Given the description of an element on the screen output the (x, y) to click on. 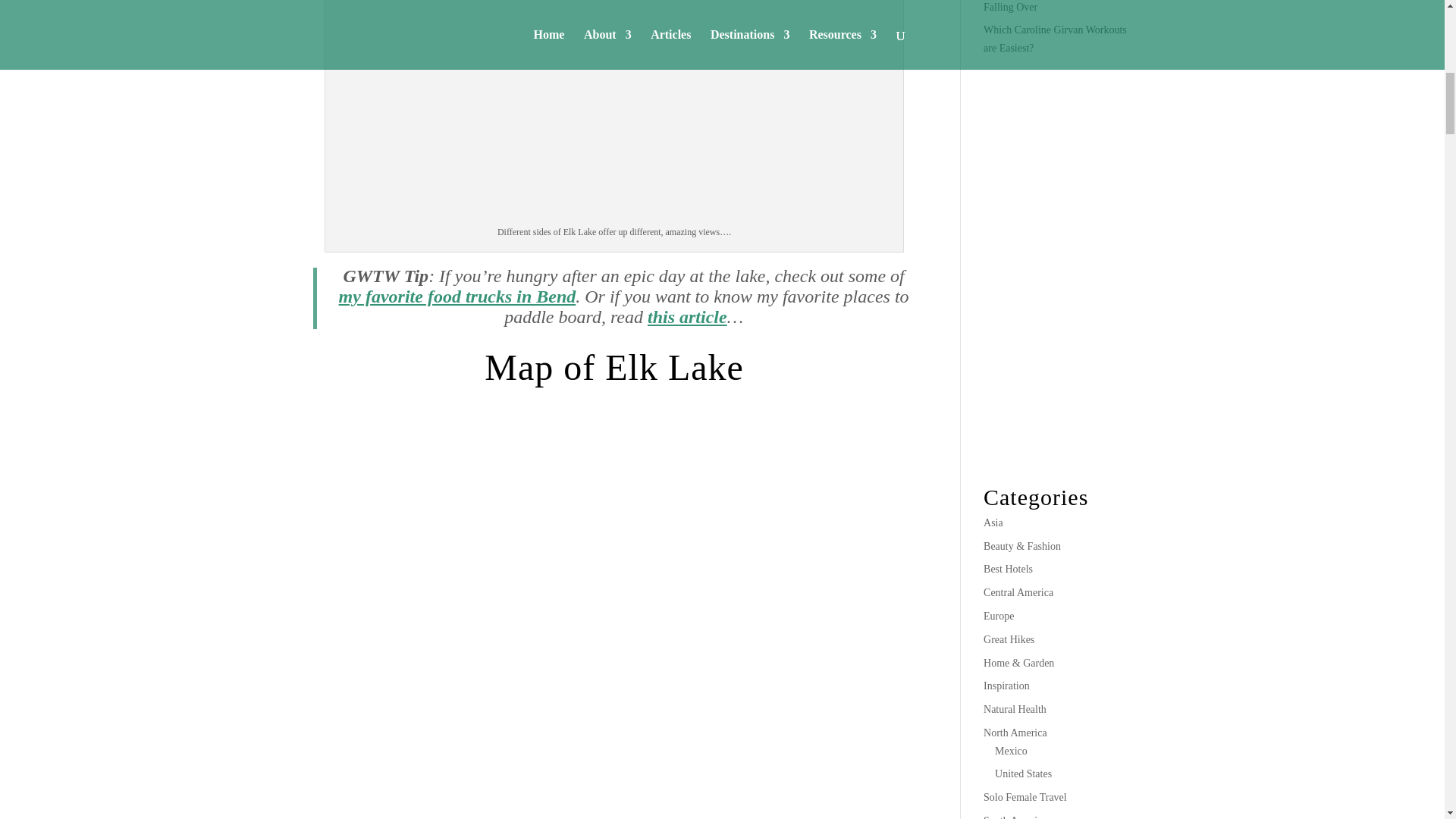
this article (686, 316)
my favorite food trucks in Bend (457, 296)
